Given the description of an element on the screen output the (x, y) to click on. 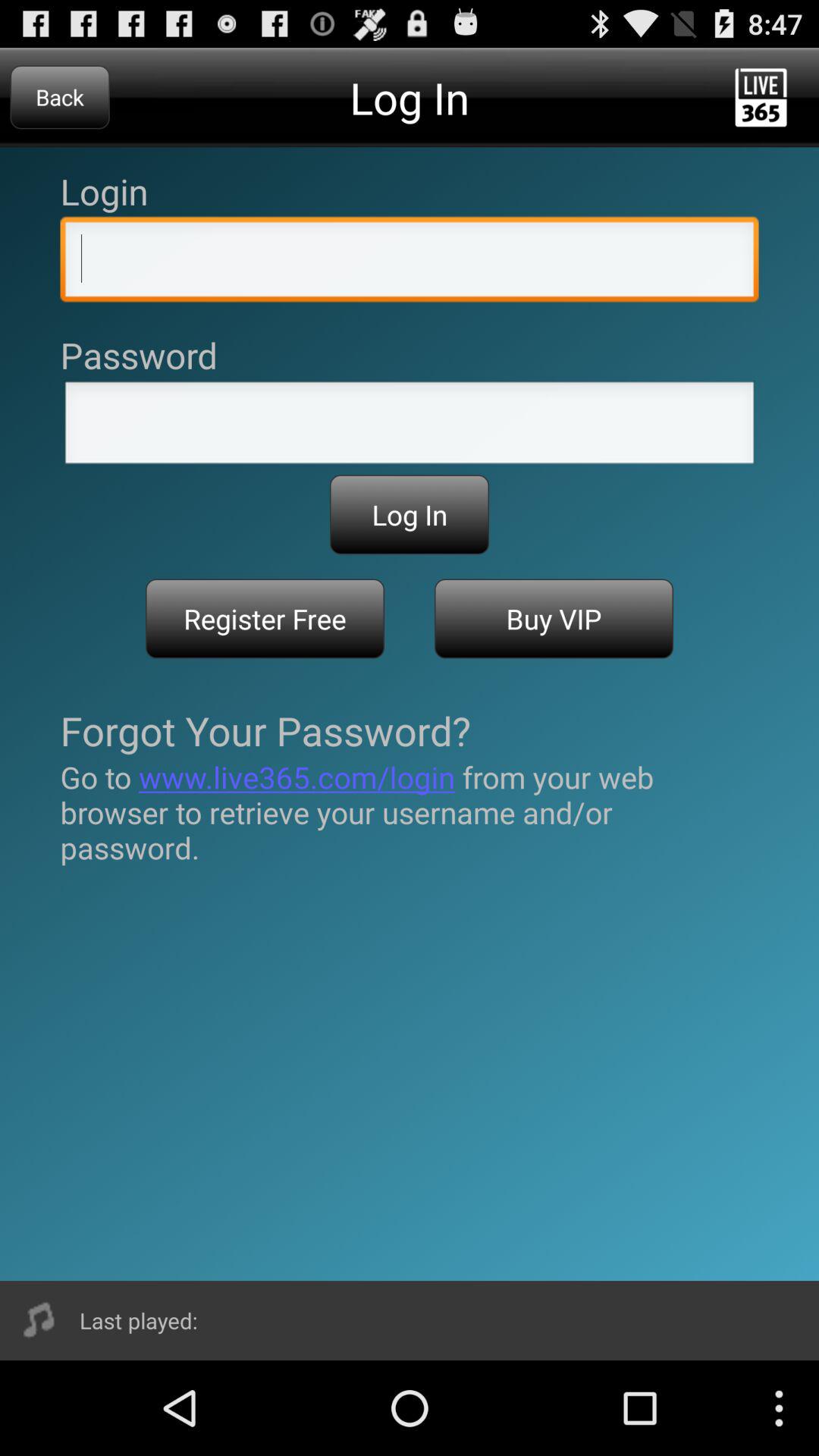
press the item next to the log in (59, 97)
